Given the description of an element on the screen output the (x, y) to click on. 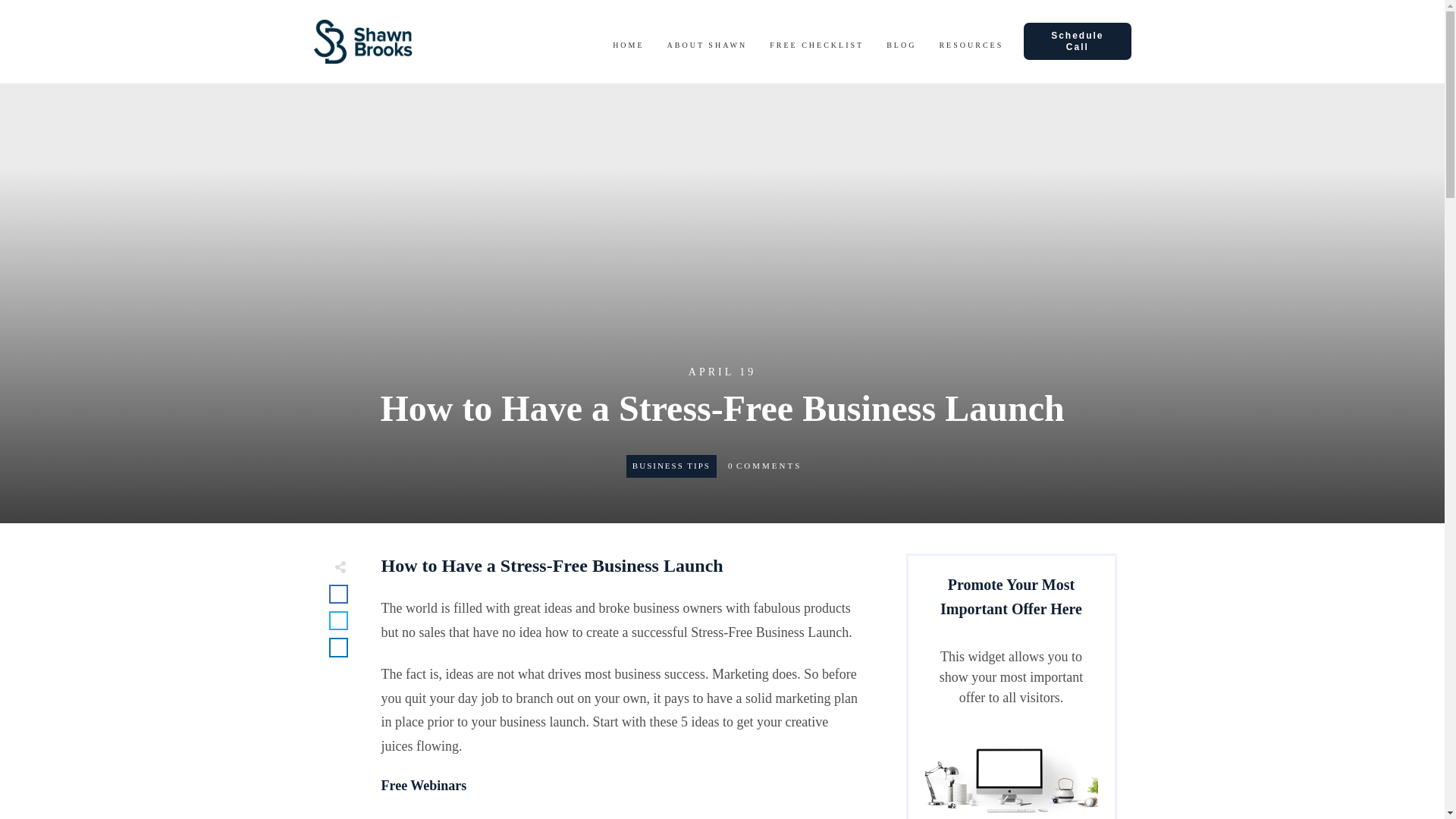
BLOG (900, 45)
RESOURCES (971, 45)
BUSINESS TIPS (670, 465)
Schedule Call (1077, 40)
Business Tips (670, 465)
FREE CHECKLIST (816, 45)
HOME (627, 45)
ABOUT SHAWN (707, 45)
